Given the description of an element on the screen output the (x, y) to click on. 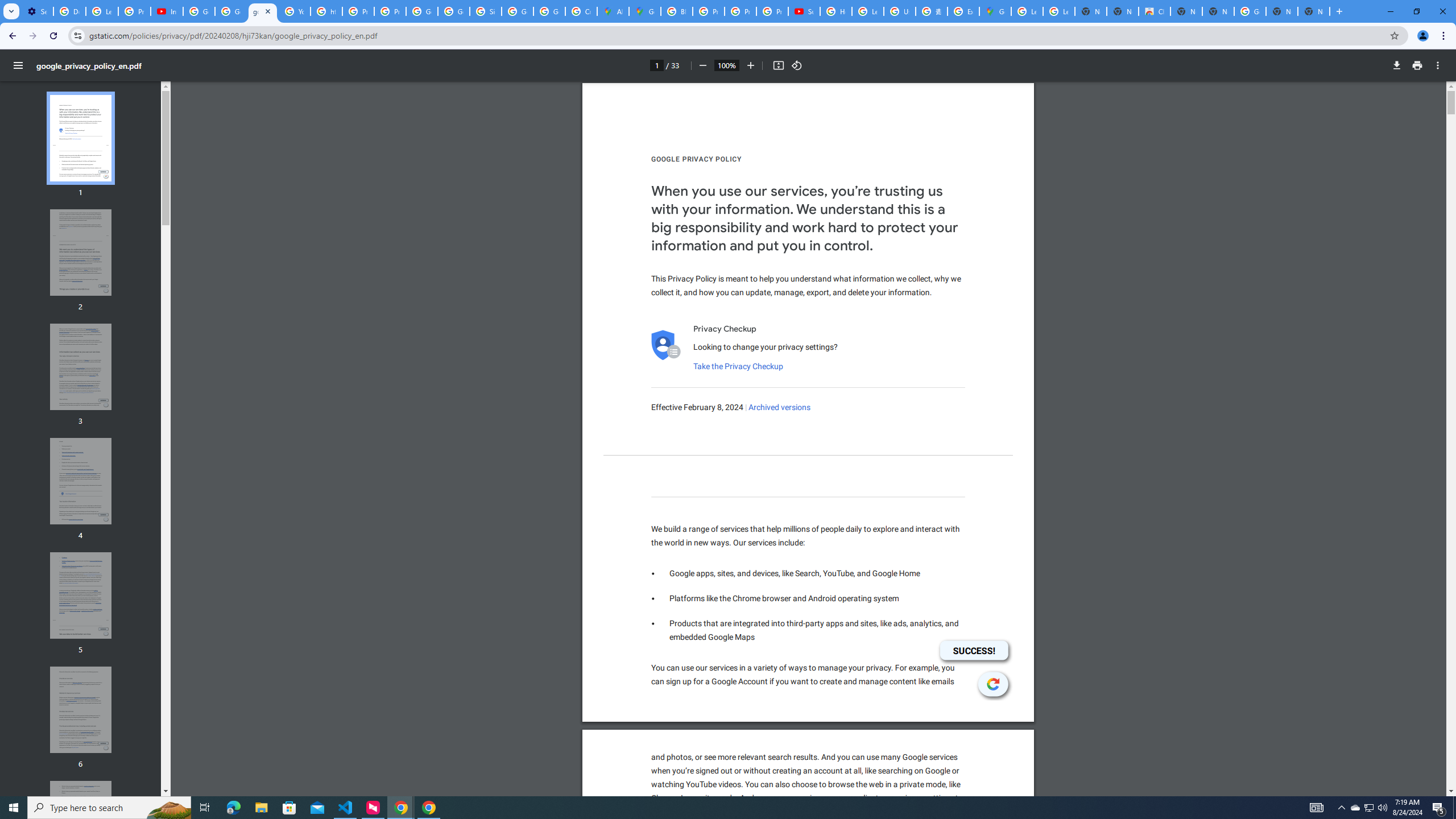
Page number (656, 64)
Take the Privacy Checkup (738, 366)
Delete photos & videos - Computer - Google Photos Help (69, 11)
Privacy Help Center - Policies Help (740, 11)
Settings - Customize profile (37, 11)
Thumbnail for page 4 (80, 481)
Menu (17, 65)
Rotate counterclockwise (796, 65)
YouTube (294, 11)
